Given the description of an element on the screen output the (x, y) to click on. 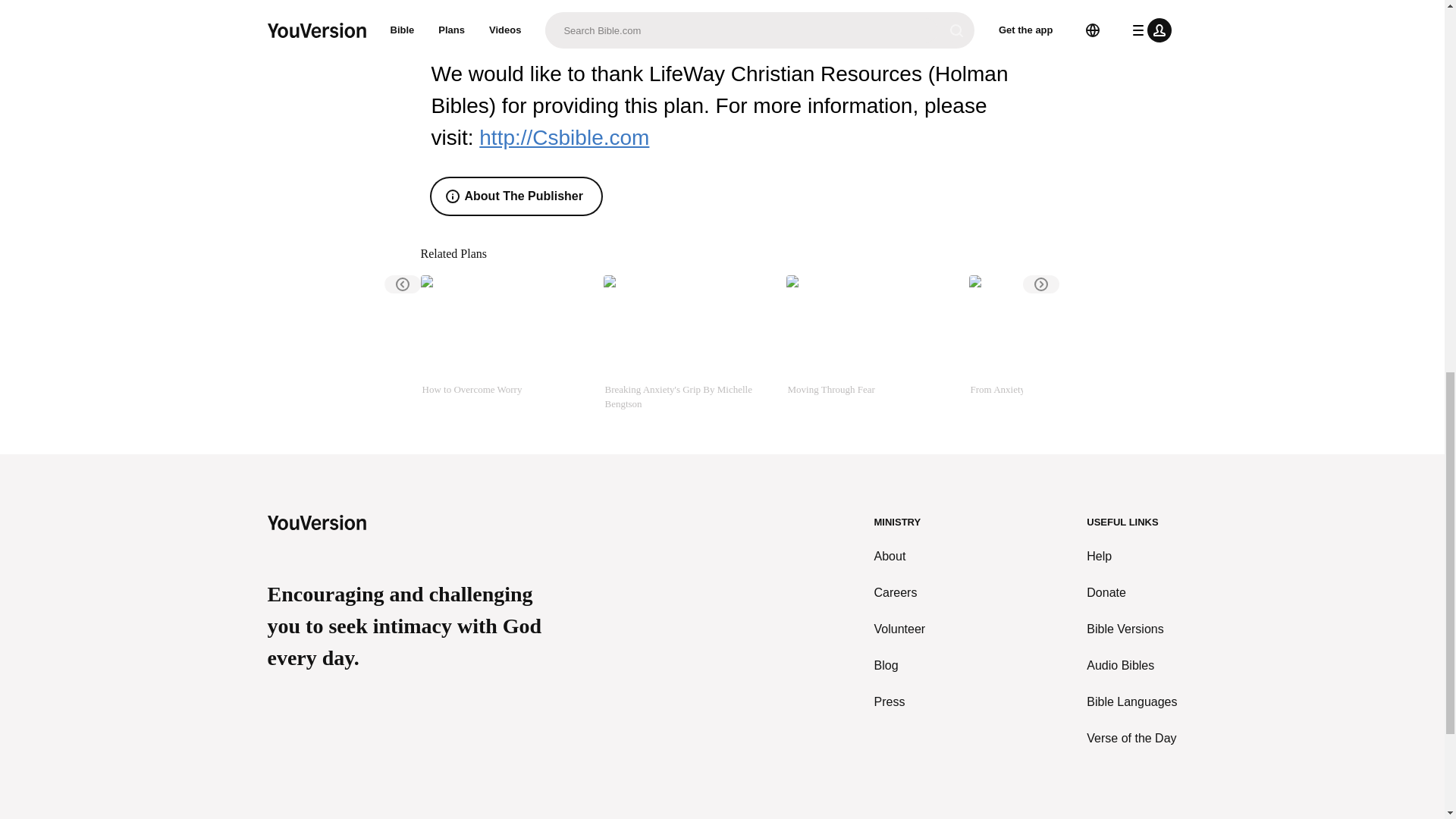
Volunteer (900, 628)
Donate (1131, 592)
About (900, 556)
Press (900, 701)
Careers (900, 592)
Bible Languages (1131, 701)
Blog (900, 665)
How to Overcome Worry (505, 343)
Verse of the Day (1131, 738)
Moving Through Fear (871, 343)
